Given the description of an element on the screen output the (x, y) to click on. 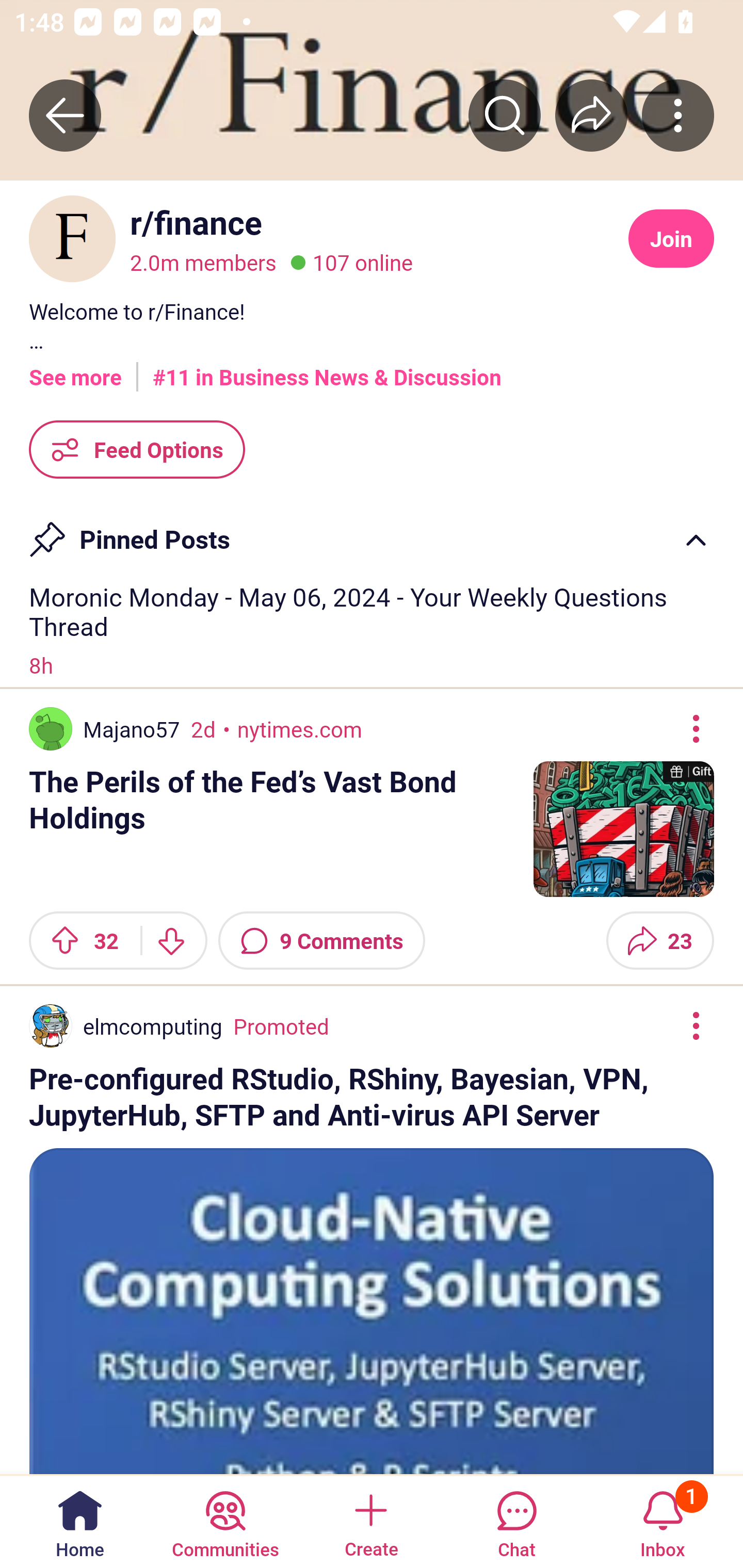
Back (64, 115)
Search r/﻿finance (504, 115)
Share r/﻿finance (591, 115)
More community actions (677, 115)
See more (74, 369)
#11 in Business News & Discussion (327, 369)
Feed Options (136, 449)
Pin Pinned Posts Caret (371, 532)
Home (80, 1520)
Communities (225, 1520)
Create a post Create (370, 1520)
Chat (516, 1520)
Inbox, has 1 notification 1 Inbox (662, 1520)
